Given the description of an element on the screen output the (x, y) to click on. 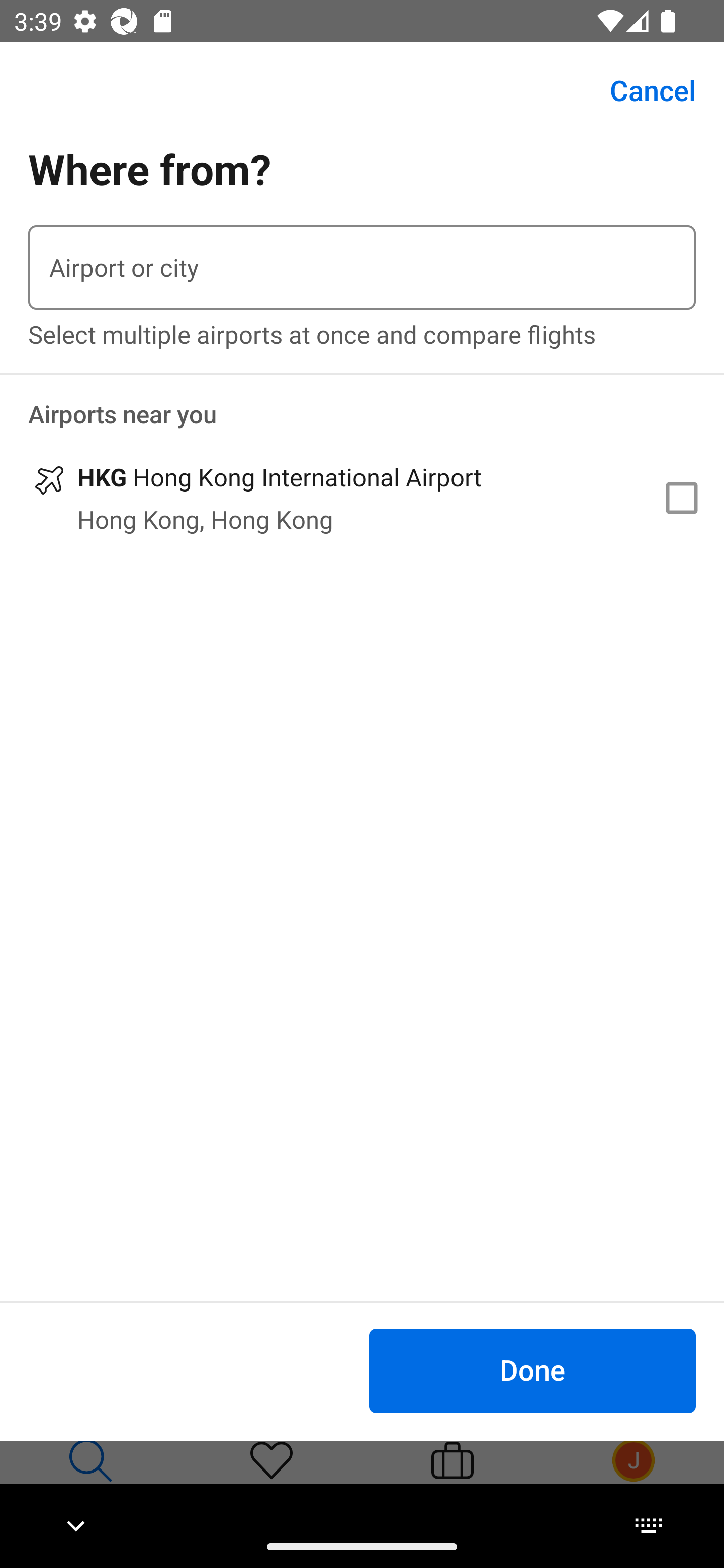
Cancel (641, 90)
Airport or city (361, 266)
Done (532, 1370)
